Given the description of an element on the screen output the (x, y) to click on. 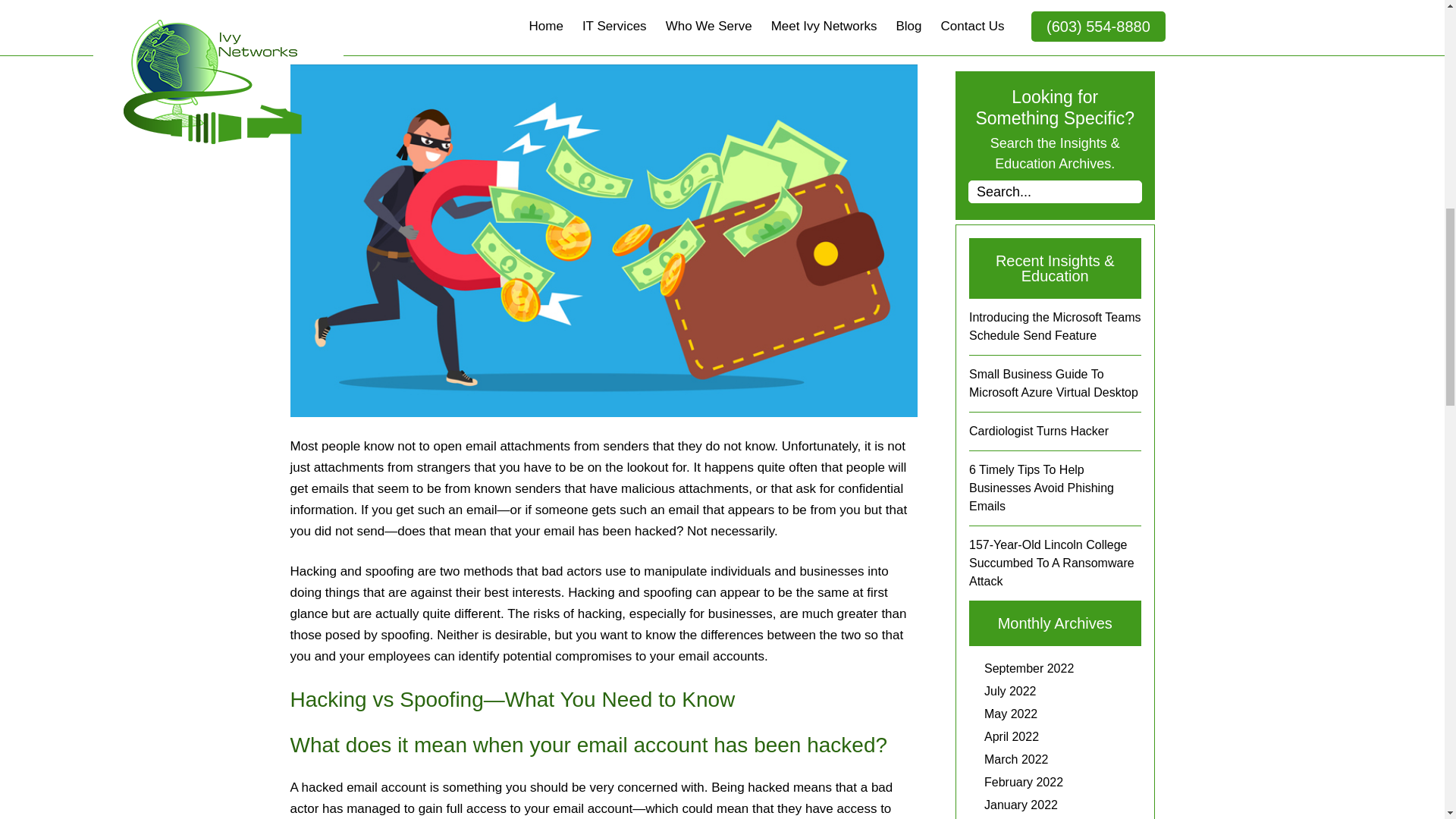
Small Business Guide To Microsoft Azure Virtual Desktop (1053, 382)
6 Timely Tips To Help Businesses Avoid Phishing Emails (1041, 487)
Cardiologist Turns Hacker (1038, 431)
February 2022 (1023, 781)
Search... (1054, 191)
Search... (1054, 191)
July 2022 (1010, 690)
May 2022 (1010, 713)
March 2022 (1016, 758)
